Given the description of an element on the screen output the (x, y) to click on. 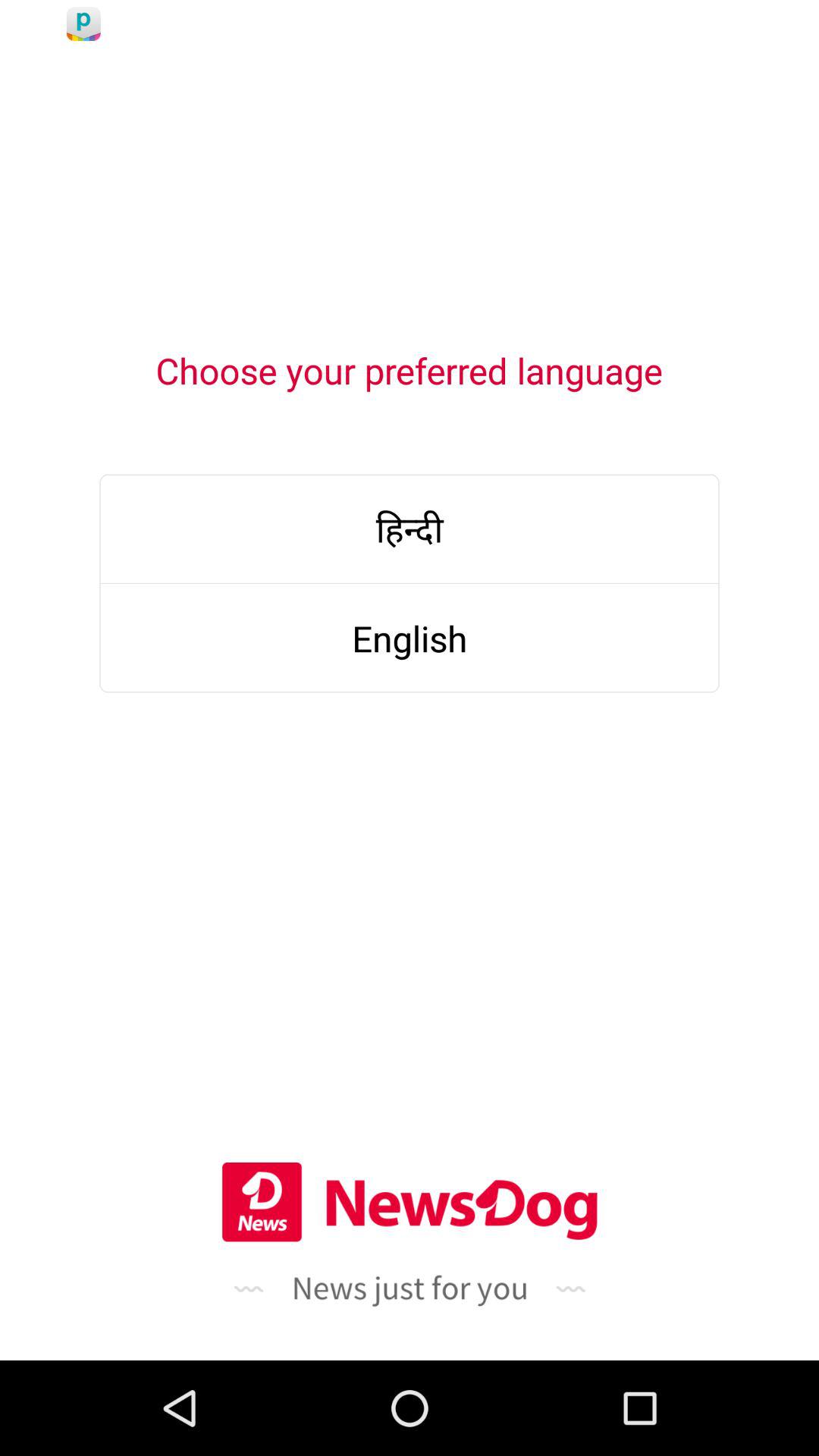
open the item below choose your preferred item (409, 528)
